Given the description of an element on the screen output the (x, y) to click on. 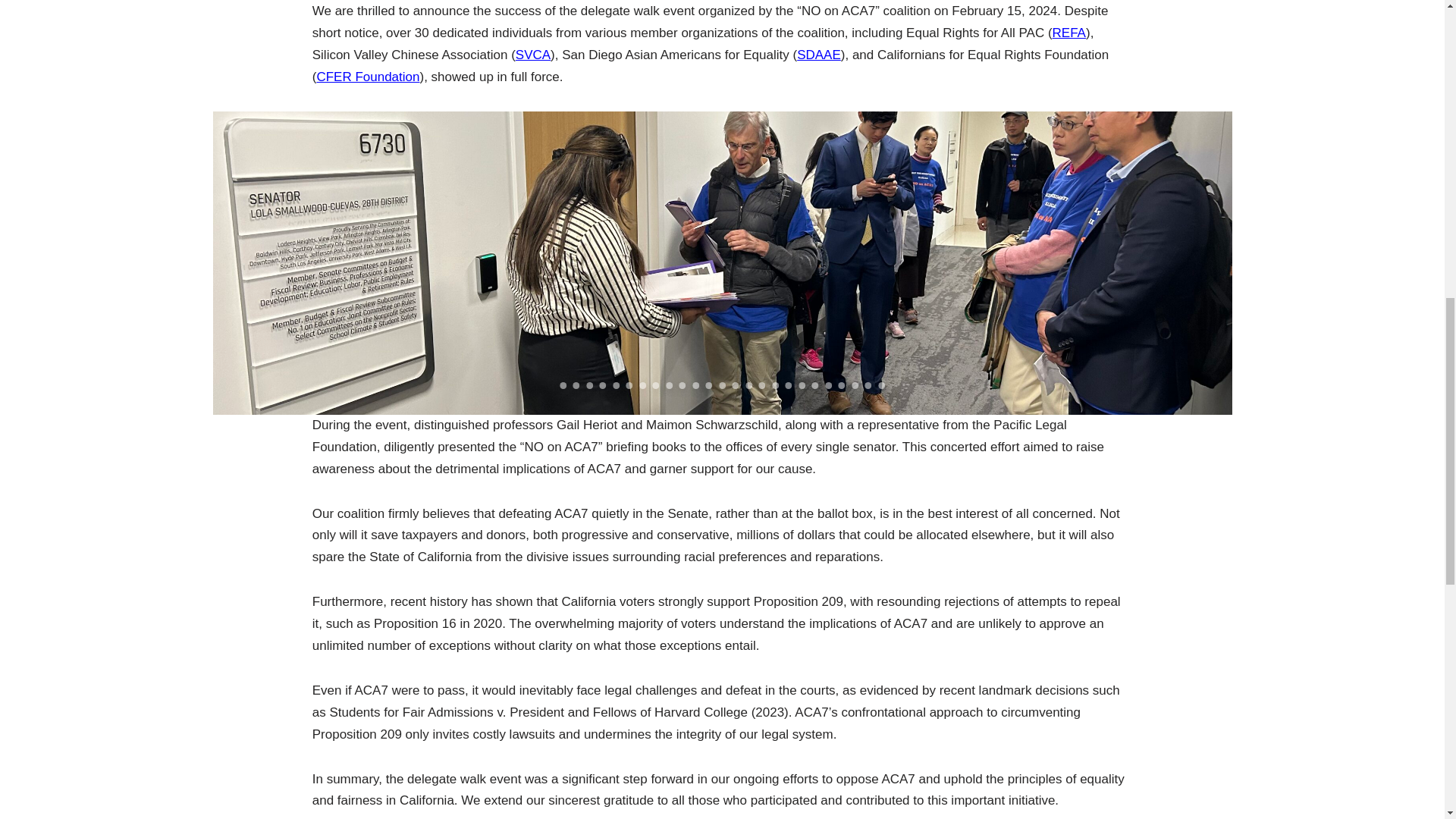
REFA (1069, 32)
SVCA (532, 54)
CFER Foundation (367, 76)
SDAAE (818, 54)
